Given the description of an element on the screen output the (x, y) to click on. 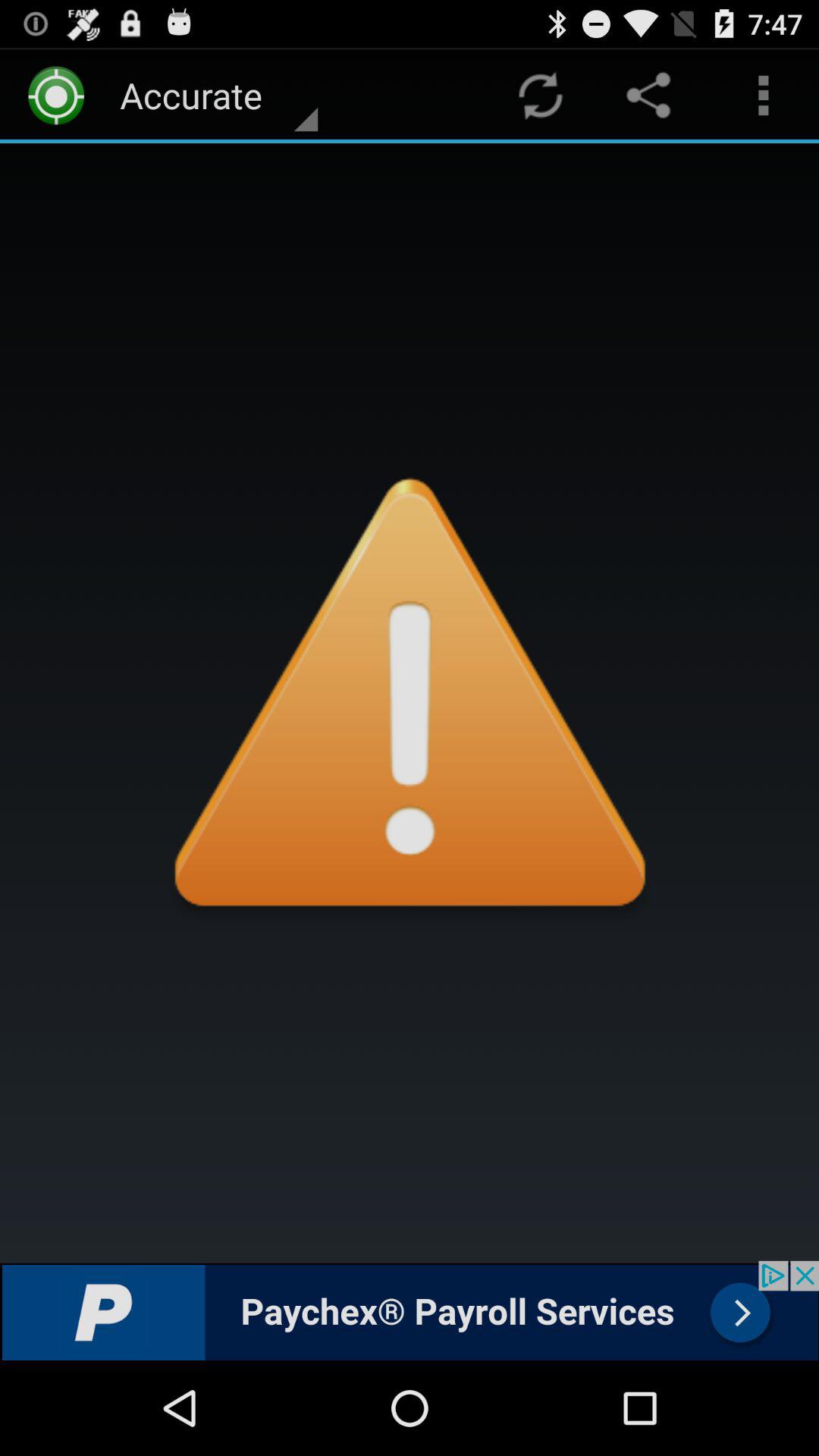
visit advertisement (409, 1310)
